Given the description of an element on the screen output the (x, y) to click on. 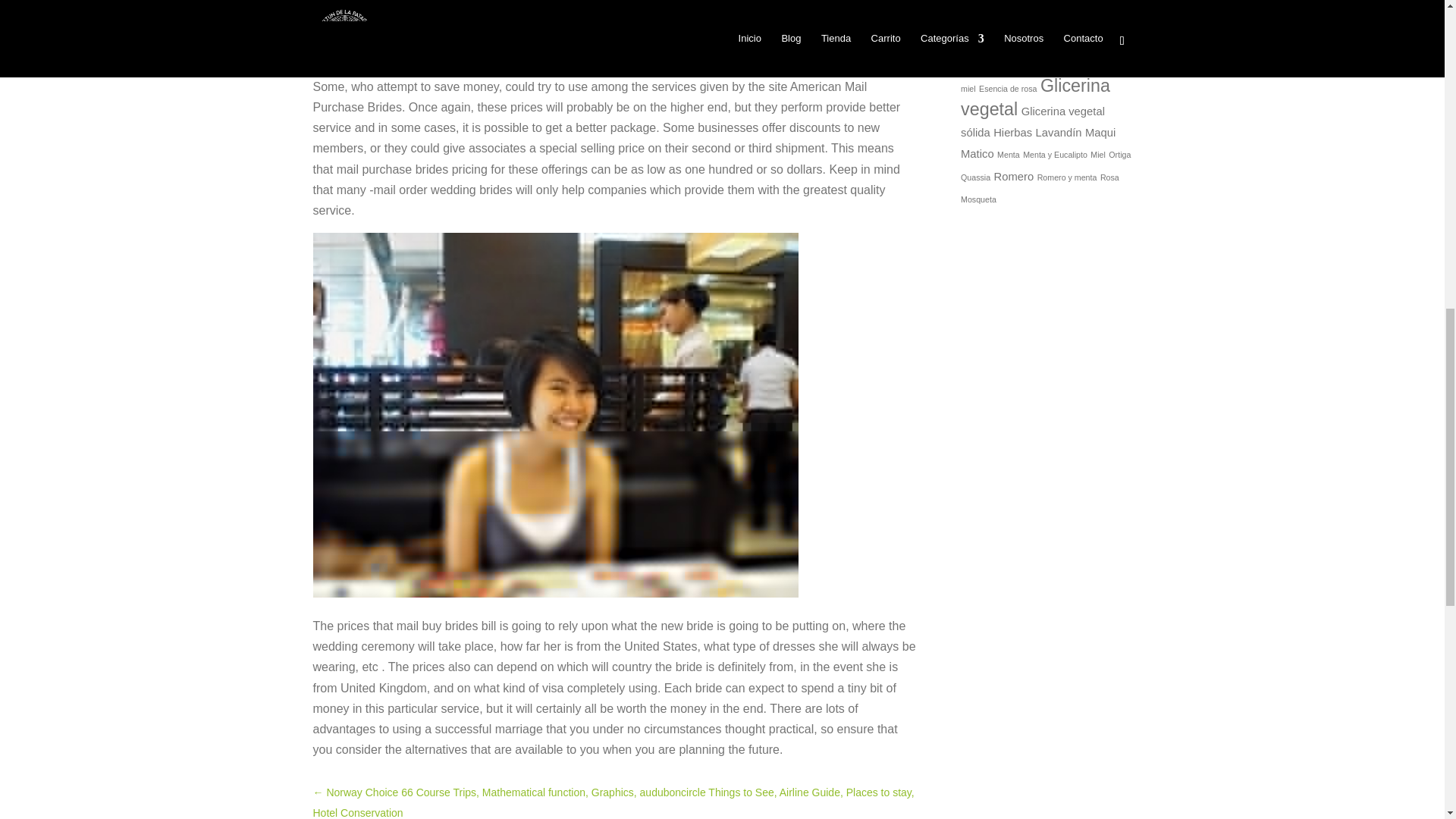
Cera de abejas (1024, 25)
